Given the description of an element on the screen output the (x, y) to click on. 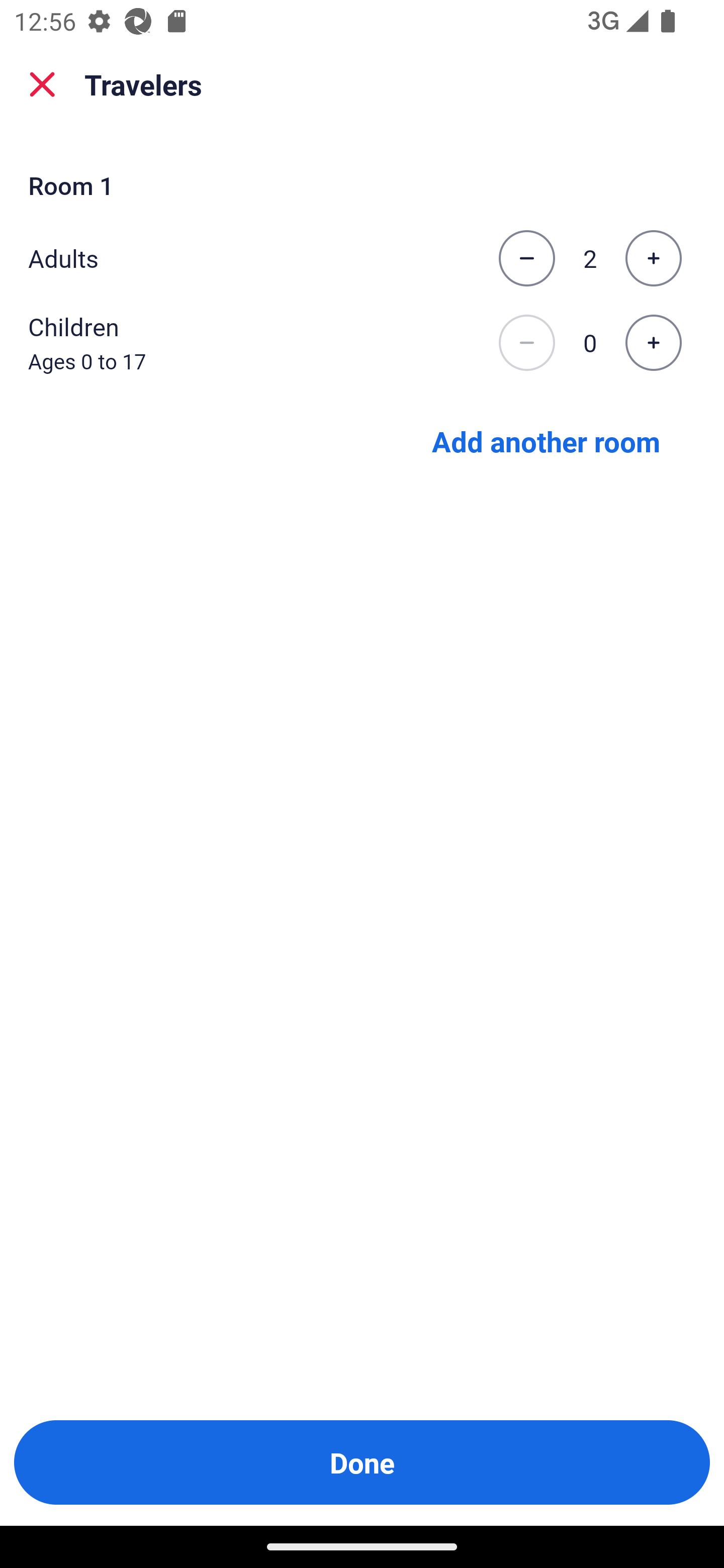
close (42, 84)
Decrease the number of adults (526, 258)
Increase the number of adults (653, 258)
Decrease the number of children (526, 343)
Increase the number of children (653, 343)
Add another room (545, 440)
Done (361, 1462)
